Given the description of an element on the screen output the (x, y) to click on. 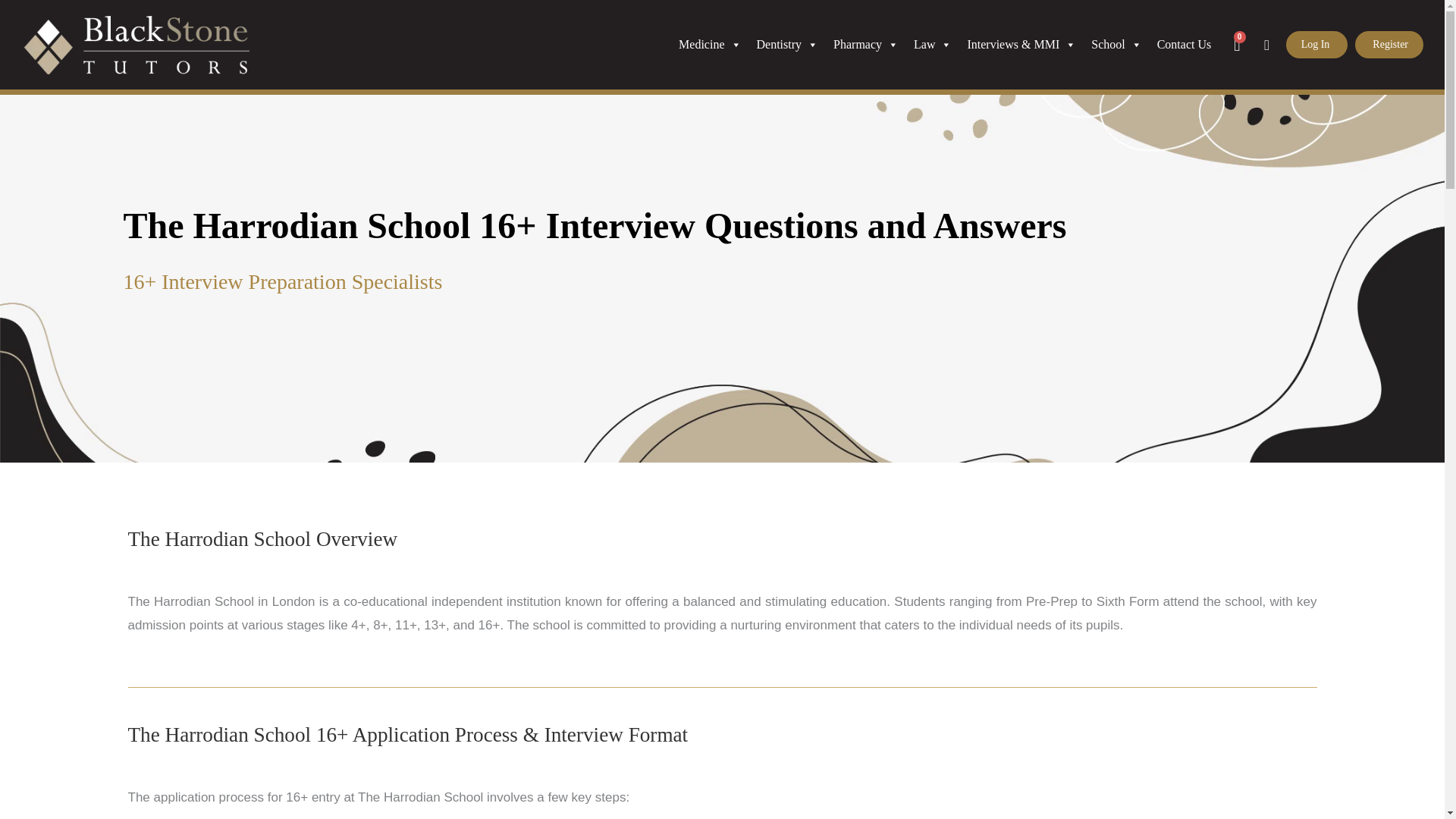
Medicine (709, 44)
